Given the description of an element on the screen output the (x, y) to click on. 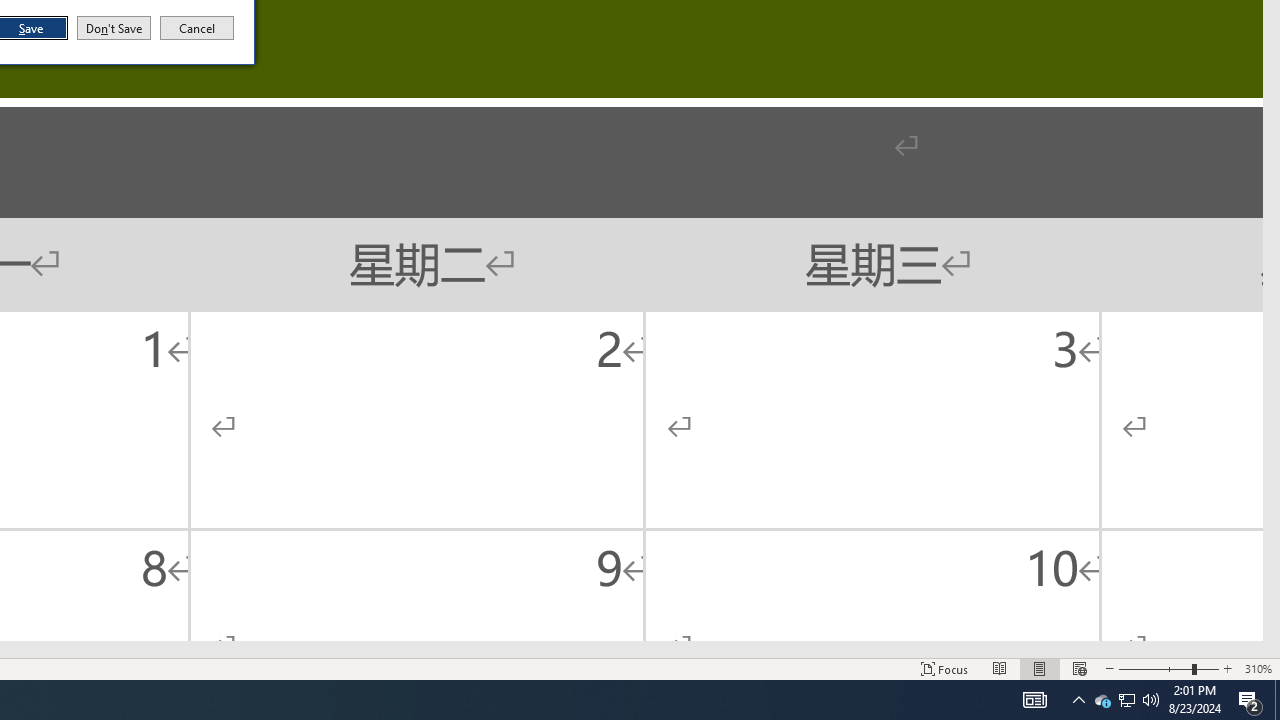
User Promoted Notification Area (1126, 699)
Don't Save (113, 27)
Show desktop (1126, 699)
AutomationID: 4105 (1277, 699)
Cancel (1034, 699)
Notification Chevron (197, 27)
Q2790: 100% (1078, 699)
